Given the description of an element on the screen output the (x, y) to click on. 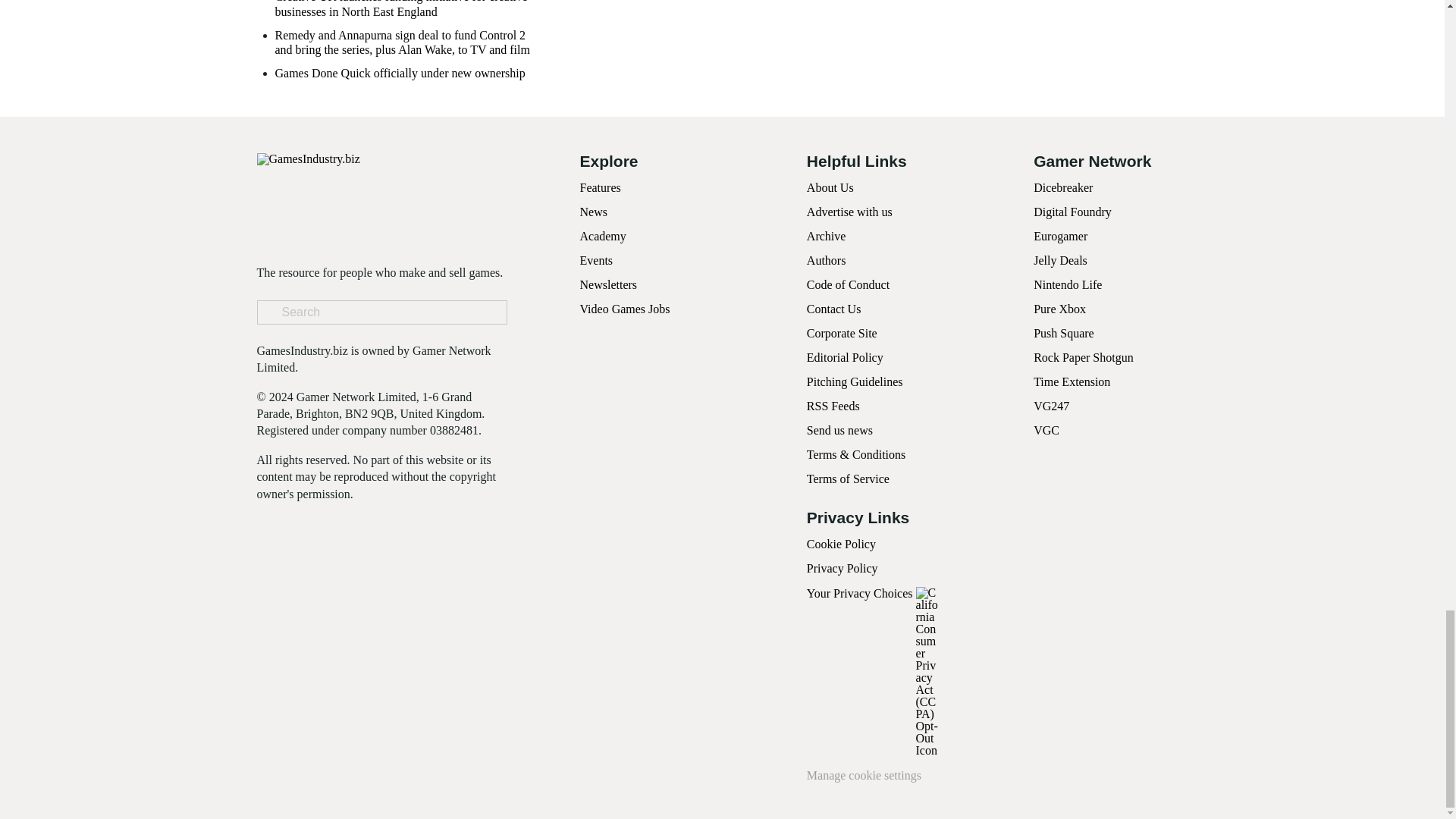
Events (595, 259)
Video Games Jobs (624, 308)
Newsletters (608, 284)
Academy (602, 236)
About Us (829, 187)
News (593, 211)
Features (599, 187)
Games Done Quick officially under new ownership (399, 73)
